Given the description of an element on the screen output the (x, y) to click on. 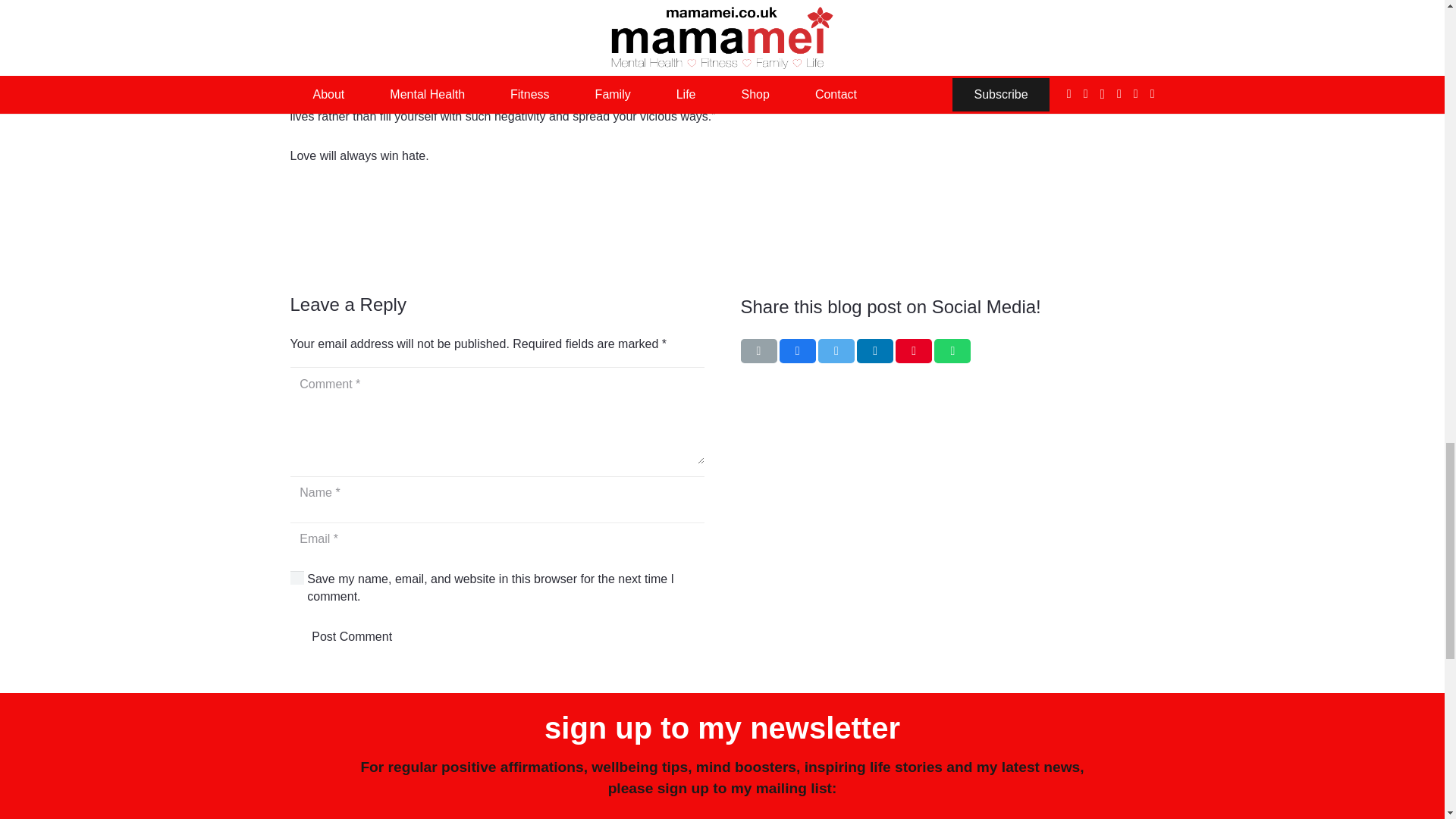
Email this (757, 351)
1 (296, 577)
Share this (796, 351)
Tweet this (836, 351)
Share this (875, 351)
Share this (952, 351)
Post Comment (351, 636)
Pin this (913, 351)
